Given the description of an element on the screen output the (x, y) to click on. 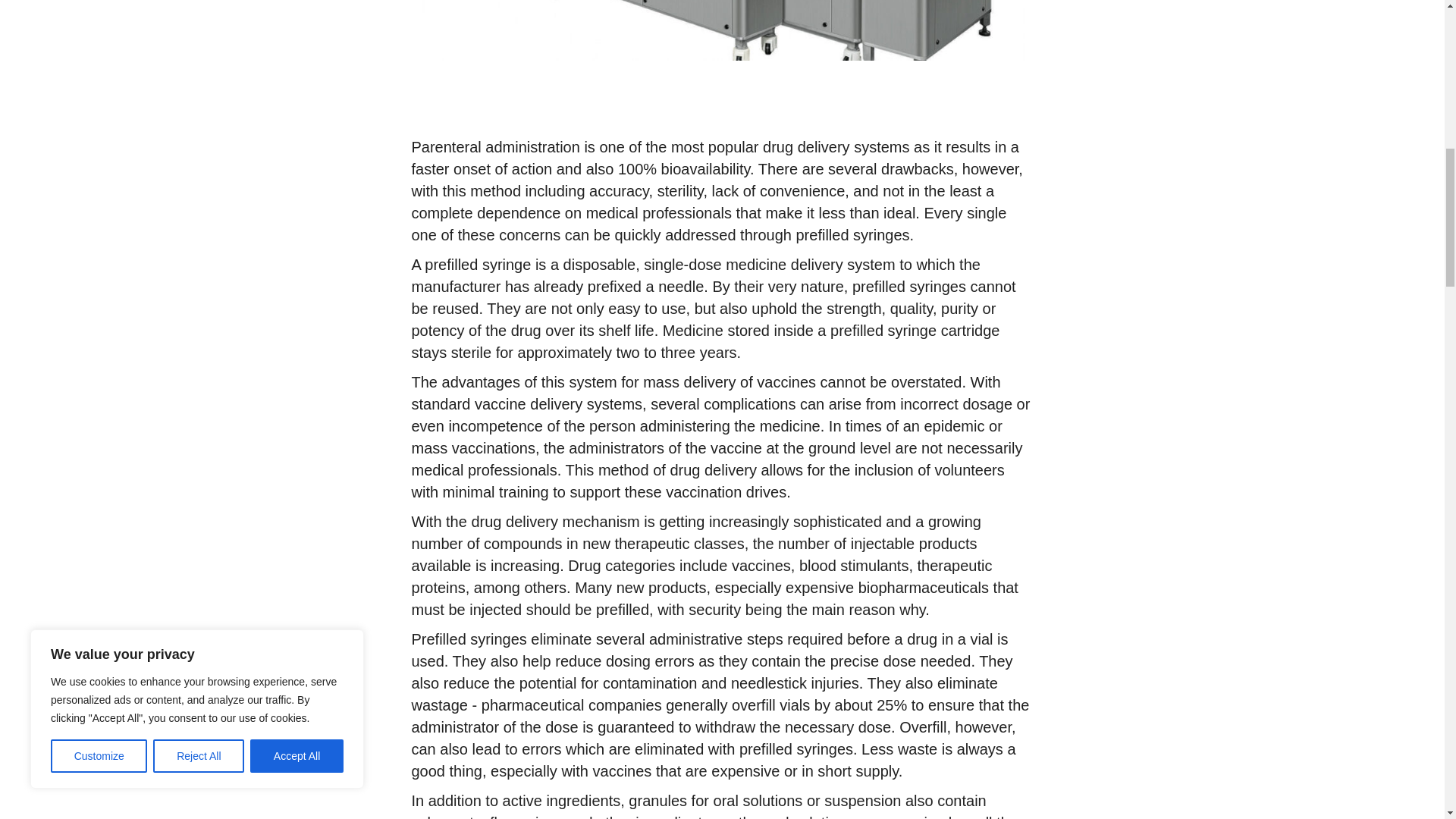
pfs (722, 30)
